Given the description of an element on the screen output the (x, y) to click on. 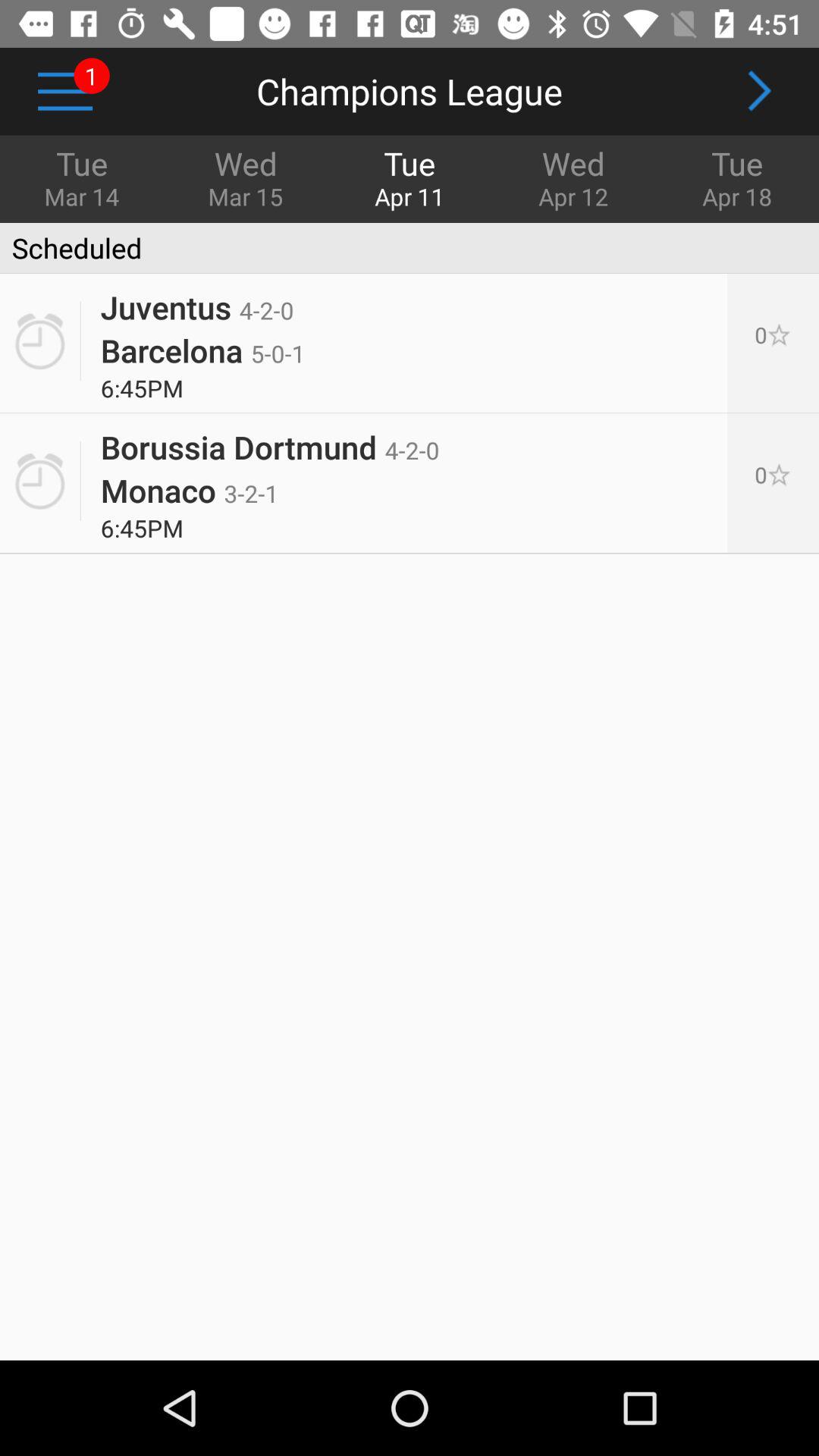
jump until the monaco 3 2 icon (189, 489)
